Given the description of an element on the screen output the (x, y) to click on. 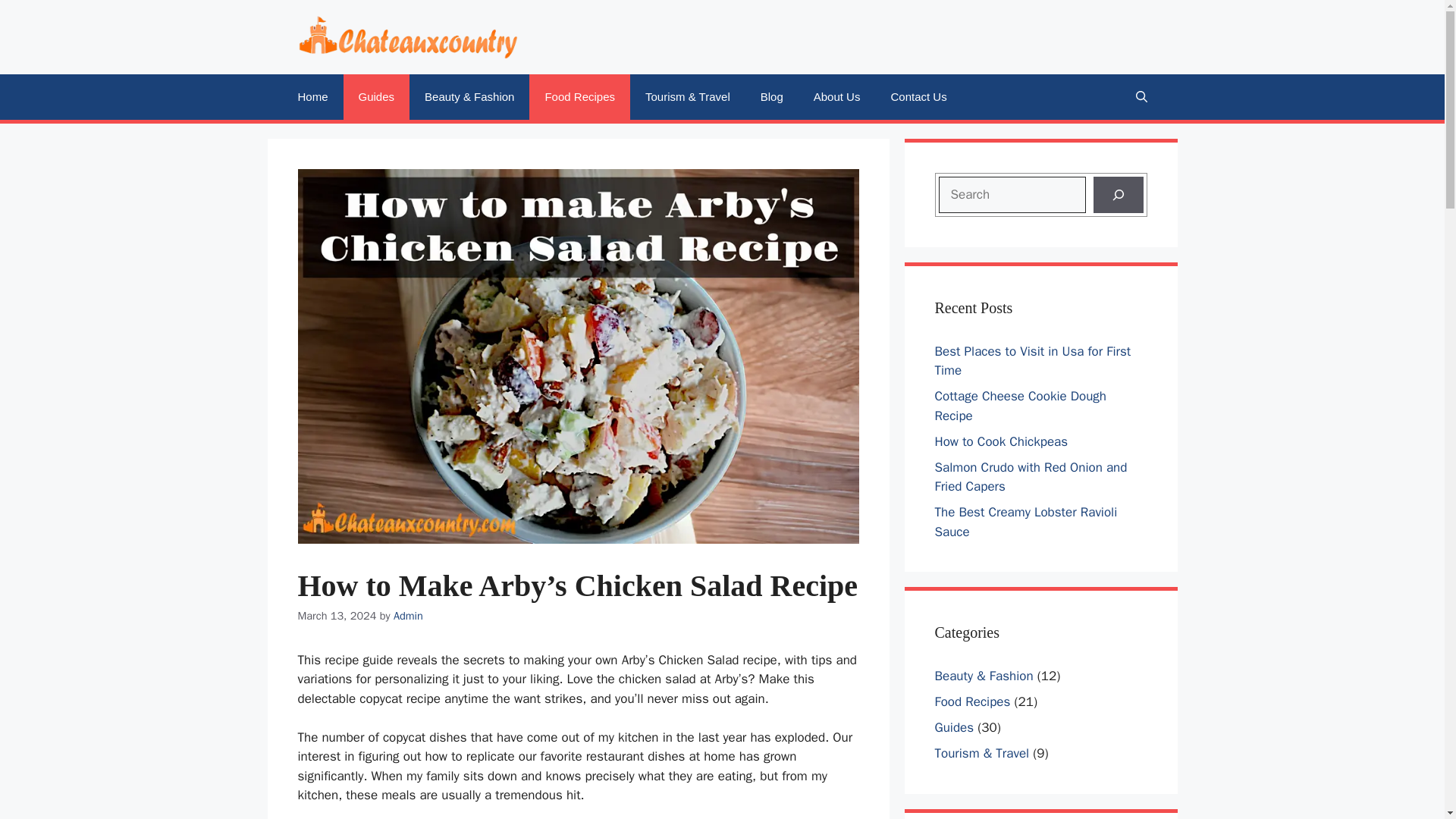
Home (312, 96)
Admin (408, 615)
Food Recipes (579, 96)
View all posts by Admin (408, 615)
Cottage Cheese Cookie Dough Recipe (1019, 406)
Best Places to Visit in Usa for First Time (1032, 361)
Contact Us (917, 96)
The Best Creamy Lobster Ravioli Sauce (1025, 521)
About Us (836, 96)
Salmon Crudo with Red Onion and Fried Capers (1030, 477)
Guides (376, 96)
How to Cook Chickpeas (1000, 441)
Guides (954, 727)
Blog (771, 96)
Food Recipes (972, 701)
